Given the description of an element on the screen output the (x, y) to click on. 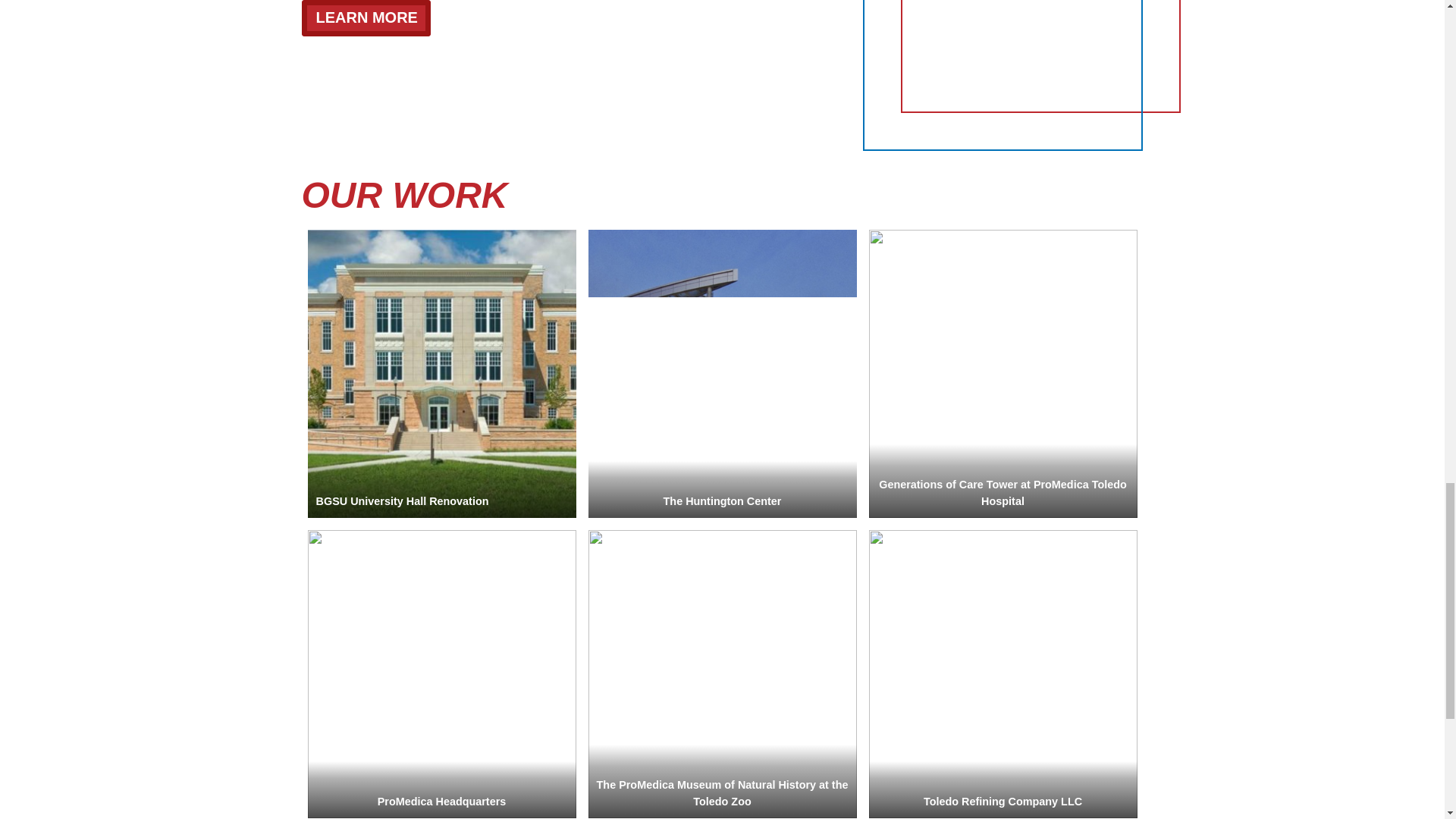
LEARN MORE (365, 18)
